Given the description of an element on the screen output the (x, y) to click on. 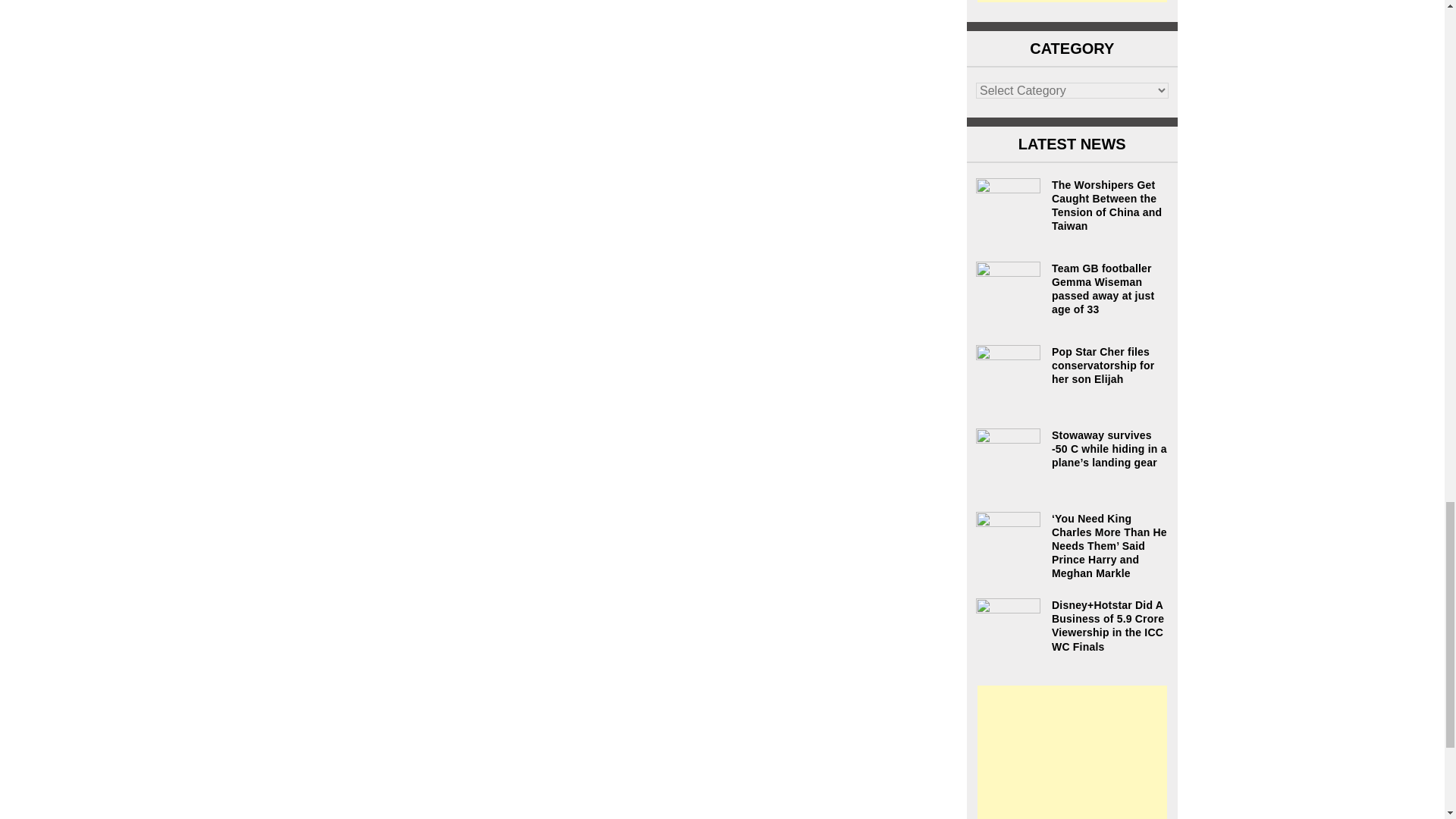
Pop Star Cher files conservatorship for her son Elijah (1072, 365)
